Given the description of an element on the screen output the (x, y) to click on. 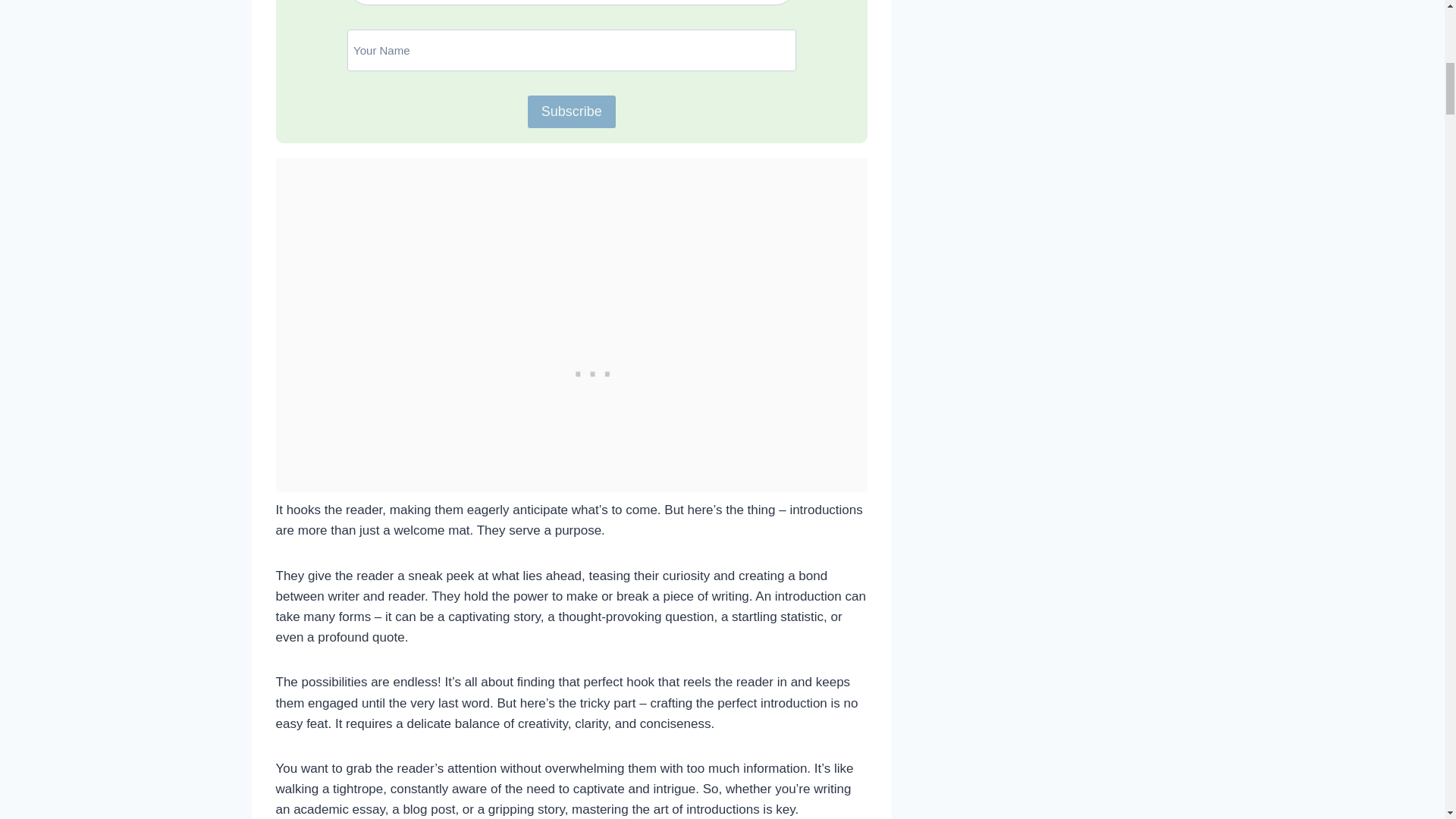
Subscribe (571, 111)
